Given the description of an element on the screen output the (x, y) to click on. 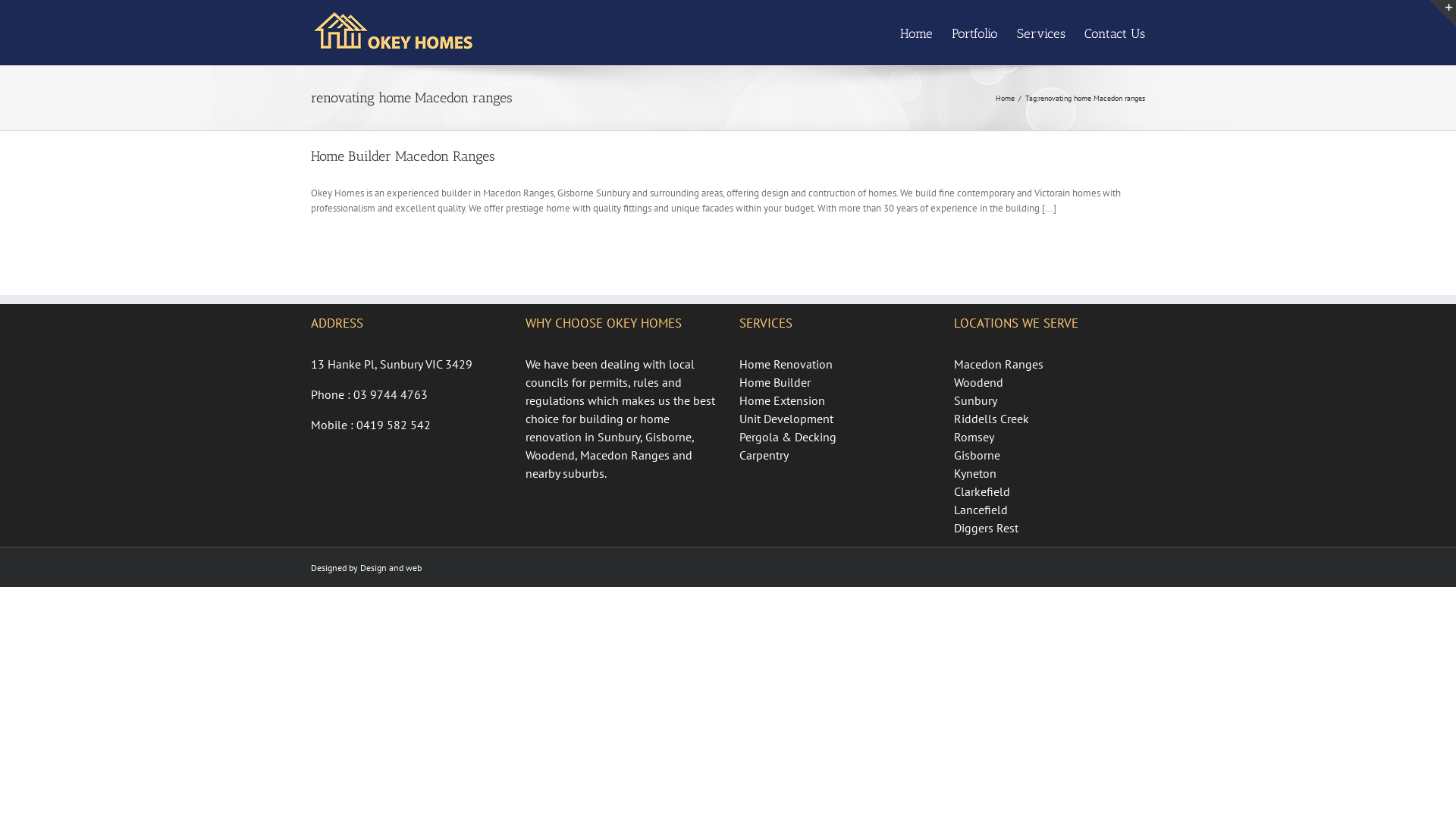
Portfolio Element type: text (974, 32)
Home Renovation Element type: text (835, 363)
Home Element type: text (916, 32)
Home Builder Macedon Ranges Element type: text (402, 155)
Unit Development Element type: text (835, 418)
Contact Us Element type: text (1114, 32)
Home Builder Element type: text (835, 382)
Macedon Ranges Element type: text (1049, 363)
Home Extension Element type: text (835, 400)
Services Element type: text (1040, 32)
Carpentry Element type: text (835, 454)
Pergola & Decking Element type: text (835, 436)
Home Element type: text (1004, 98)
